Given the description of an element on the screen output the (x, y) to click on. 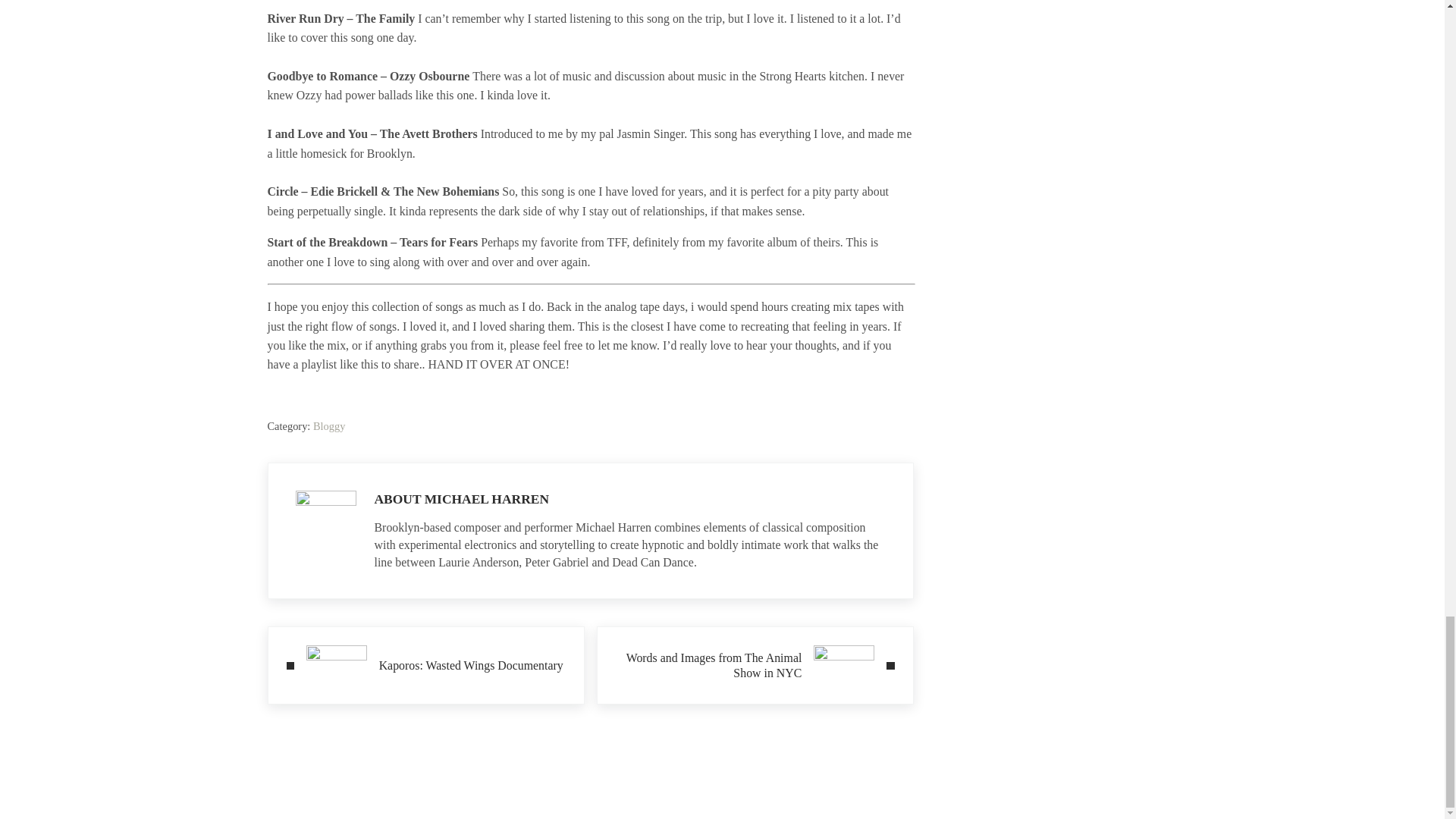
Bloggy (753, 665)
